Given the description of an element on the screen output the (x, y) to click on. 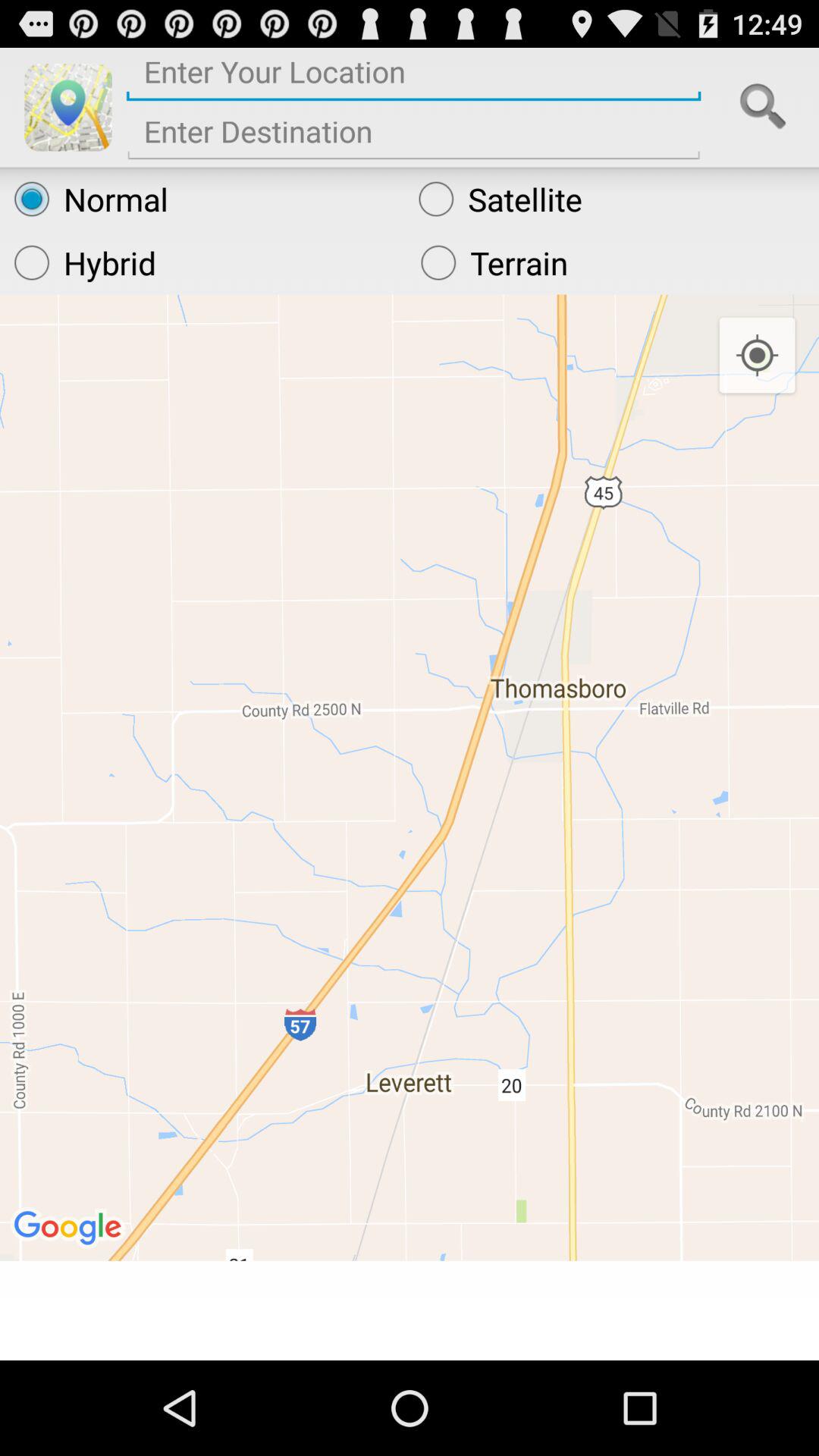
jump until hybrid item (203, 262)
